Given the description of an element on the screen output the (x, y) to click on. 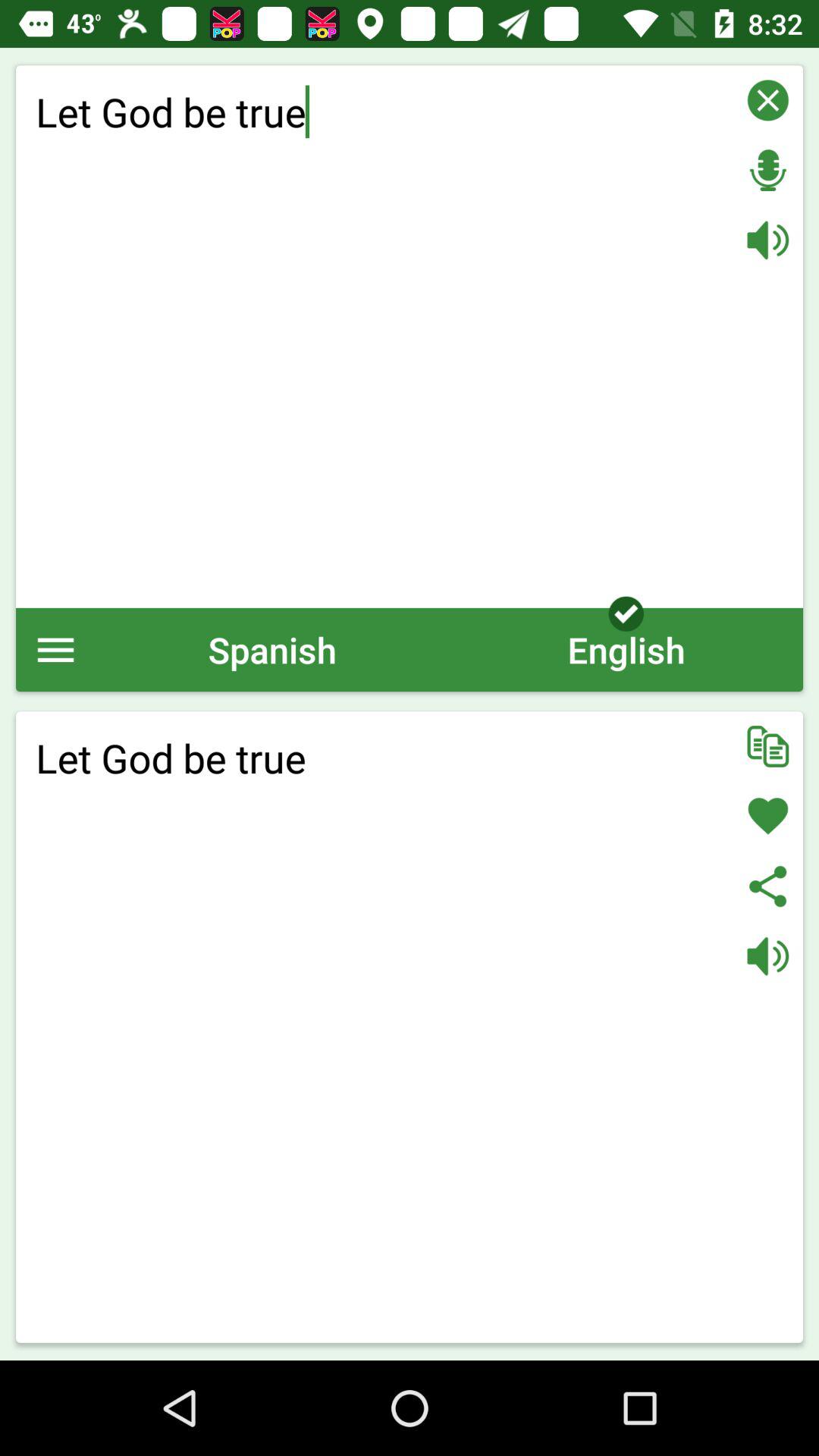
show the menu options (55, 649)
